Given the description of an element on the screen output the (x, y) to click on. 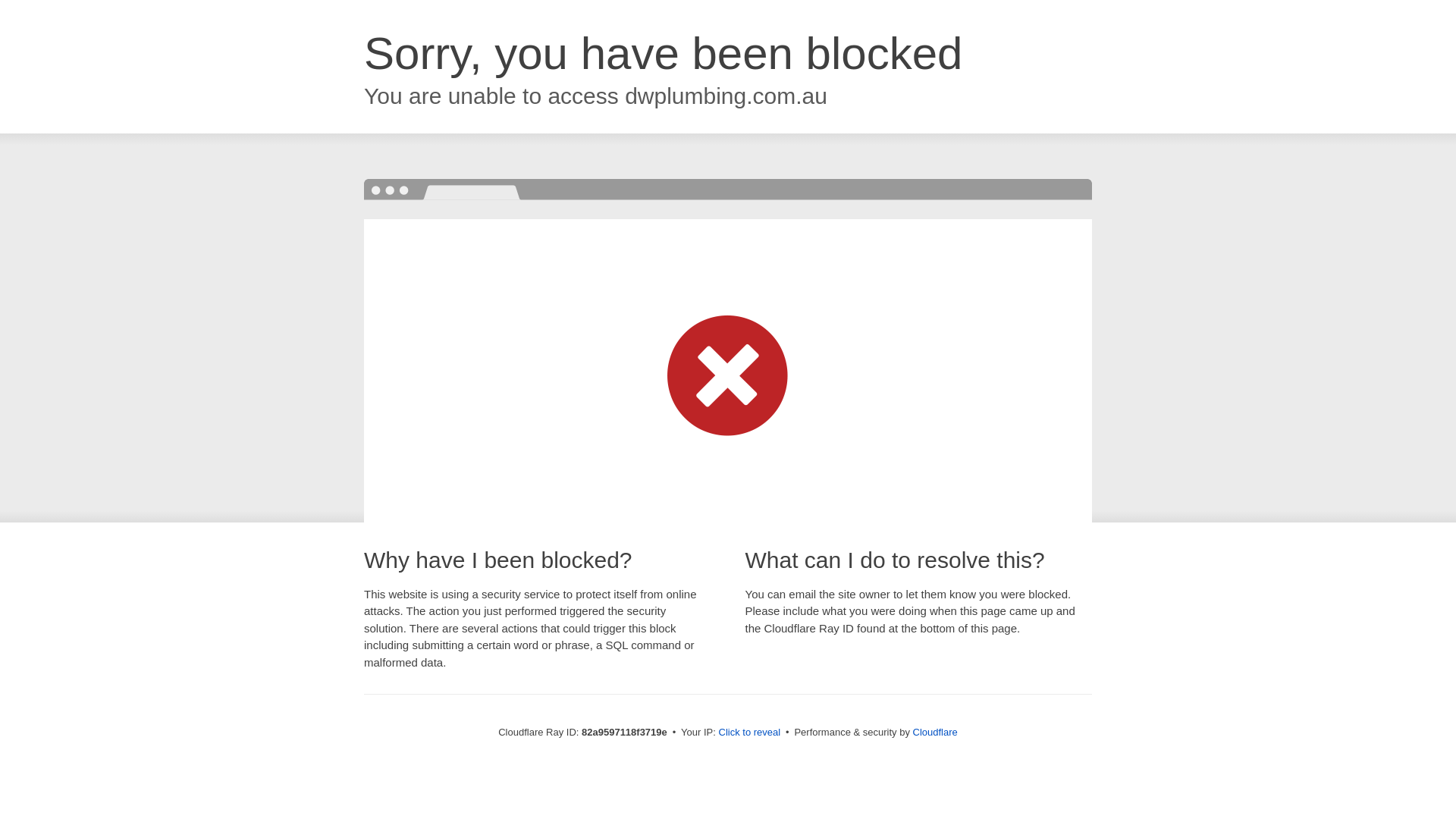
Cloudflare Element type: text (935, 731)
Click to reveal Element type: text (749, 732)
